Given the description of an element on the screen output the (x, y) to click on. 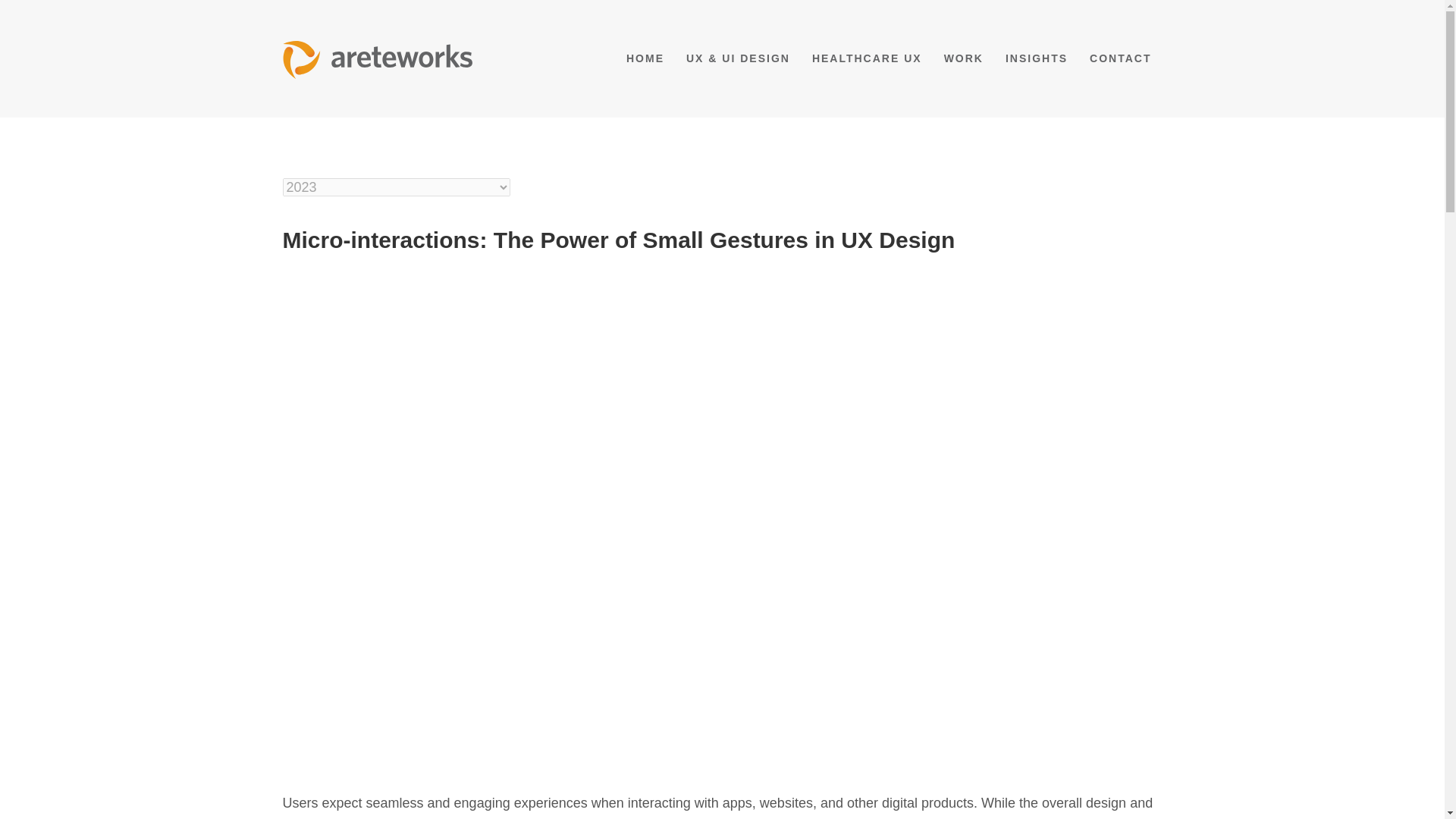
HEALTHCARE UX (867, 58)
HOME (645, 58)
CONTACT (1119, 58)
INSIGHTS (1036, 58)
logo.svg (376, 58)
WORK (963, 58)
